Given the description of an element on the screen output the (x, y) to click on. 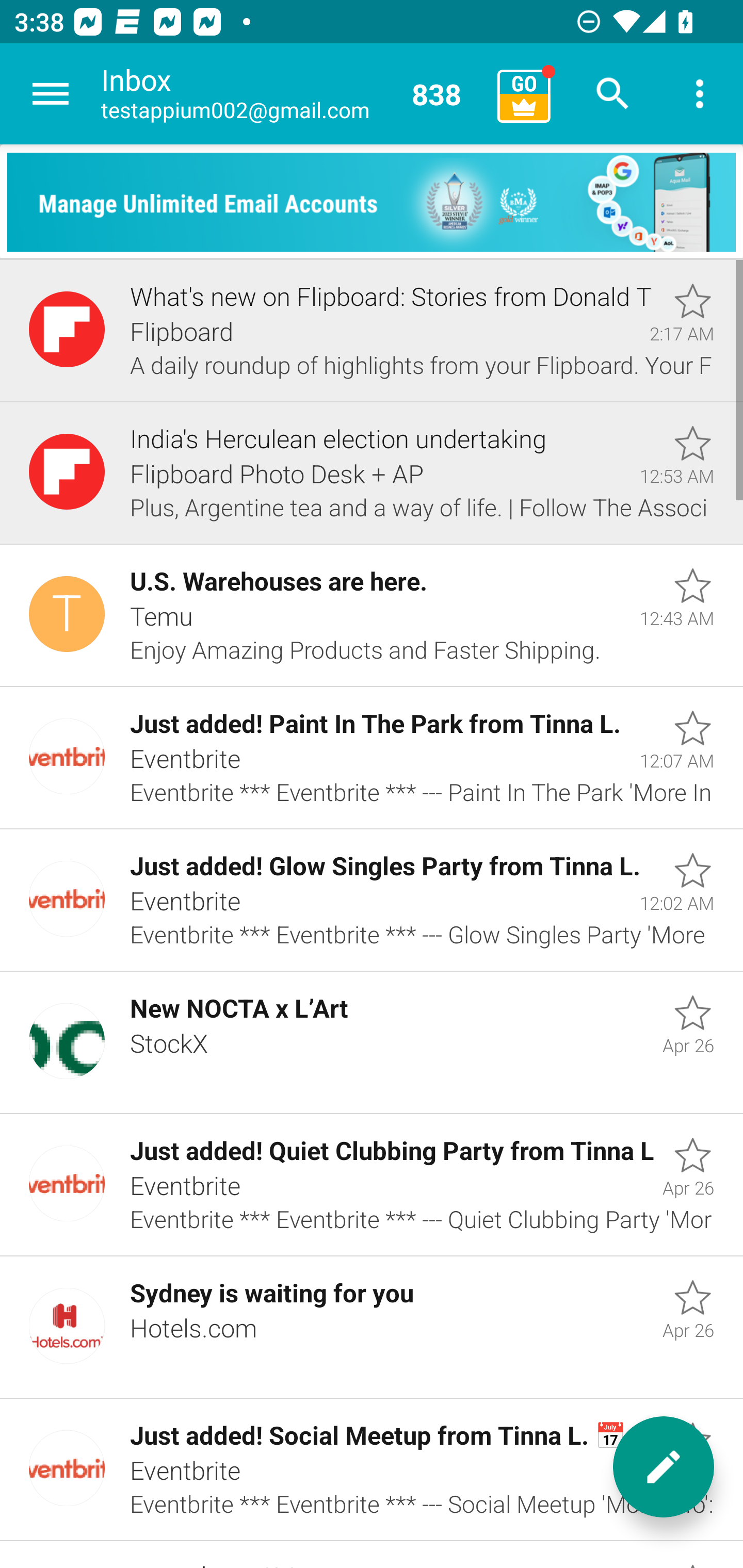
Navigate up (50, 93)
Inbox testappium002@gmail.com 838 (291, 93)
Search (612, 93)
More options (699, 93)
Unread, New NOCTA x L’Art, StockX, Apr 26 (371, 1043)
New message (663, 1466)
